Given the description of an element on the screen output the (x, y) to click on. 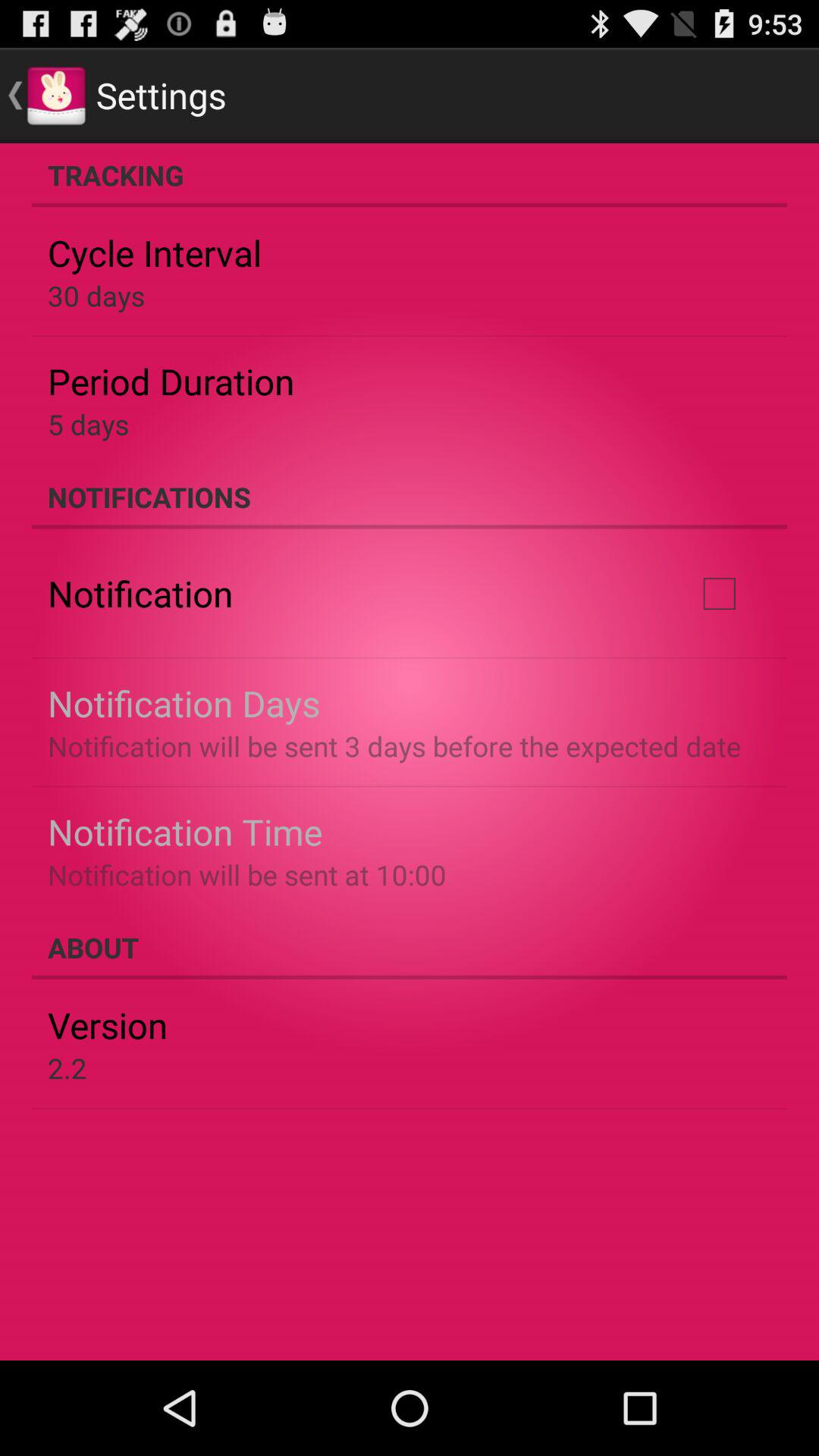
launch 30 days app (96, 295)
